Given the description of an element on the screen output the (x, y) to click on. 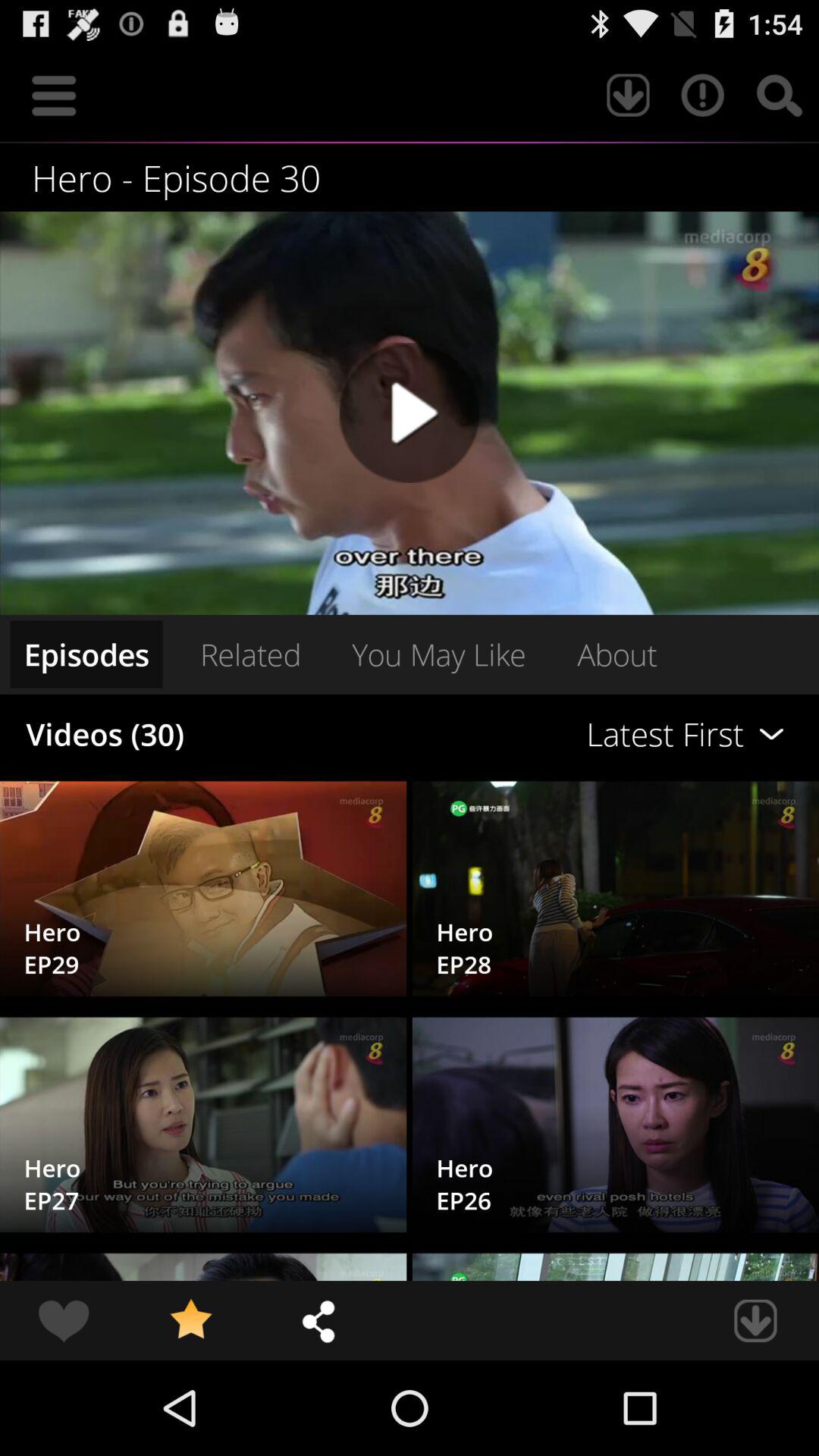
jump to the you may like (438, 654)
